Given the description of an element on the screen output the (x, y) to click on. 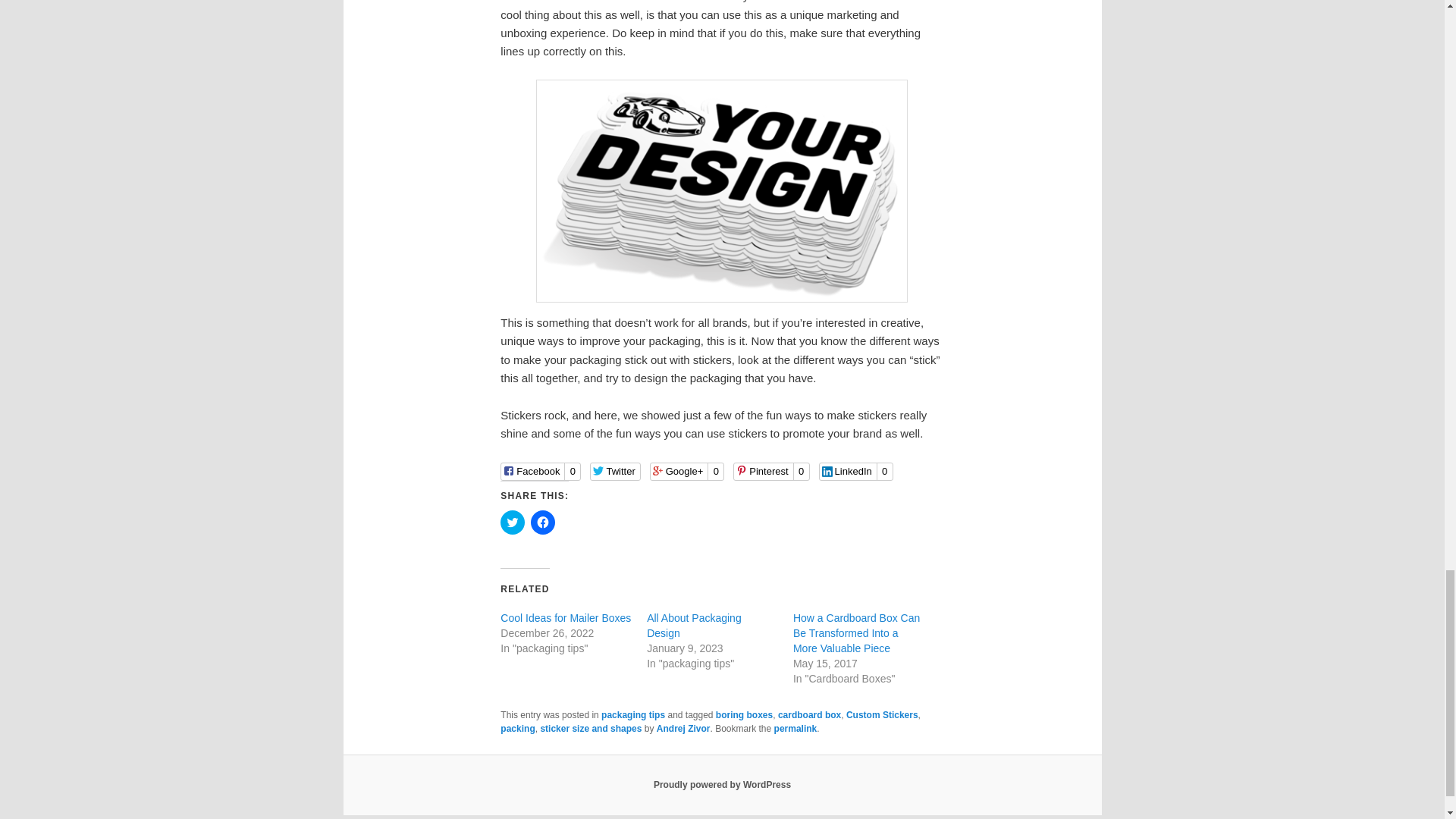
Cool Ideas for Mailer Boxes (565, 617)
packing (517, 728)
boring boxes (744, 715)
sticker size and shapes (591, 728)
Semantic Personal Publishing Platform (721, 784)
packaging tips (633, 715)
Share link on LinkedIn (855, 471)
cardboard box (809, 715)
Click to share on Twitter (512, 522)
Share link on Facebook (540, 471)
Share image on Pinterest (771, 471)
permalink (795, 728)
